Given the description of an element on the screen output the (x, y) to click on. 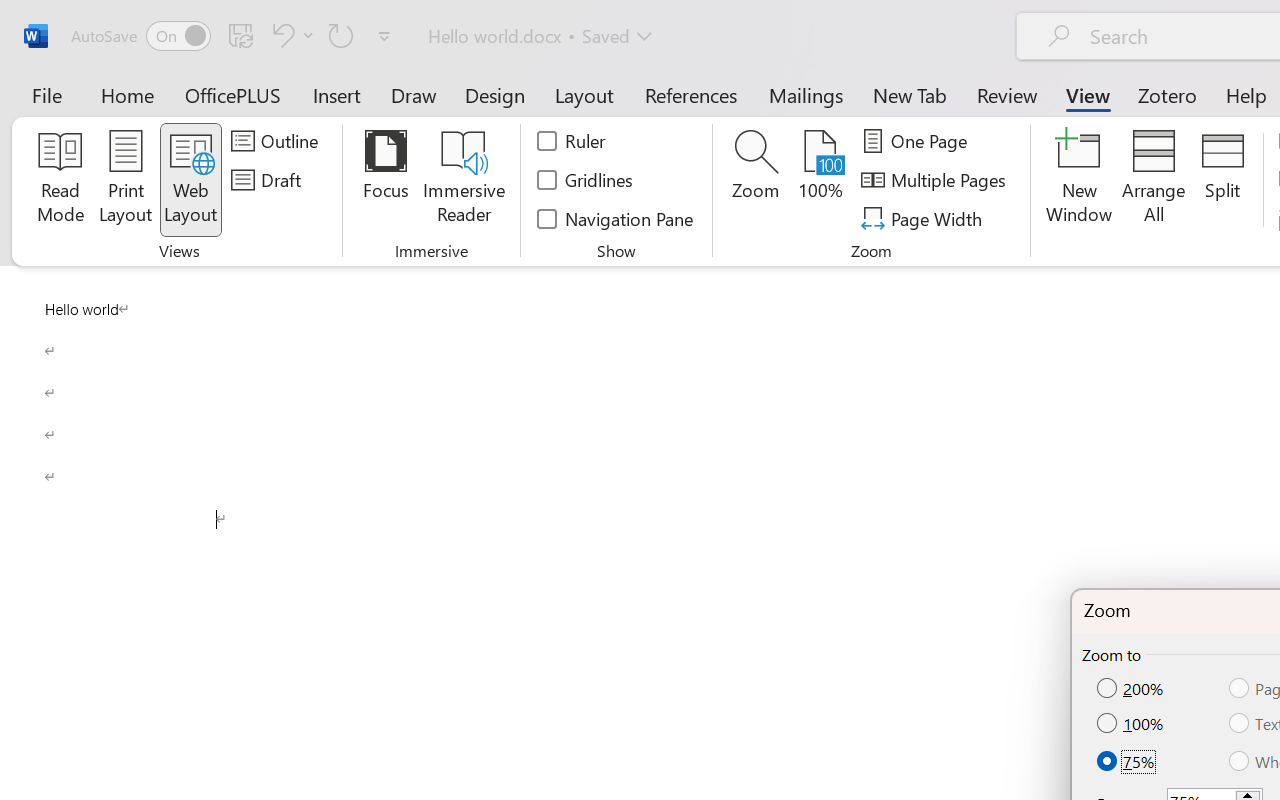
OfficePLUS (233, 94)
Undo Paragraph Formatting (290, 35)
Page Width (924, 218)
Design (495, 94)
Web Layout (190, 179)
Home (127, 94)
Zoom... (755, 179)
Quick Access Toolbar (233, 36)
Read Mode (60, 179)
Can't Repeat (341, 35)
Insert (337, 94)
More Options (308, 35)
100% (820, 179)
100% (1131, 723)
